Given the description of an element on the screen output the (x, y) to click on. 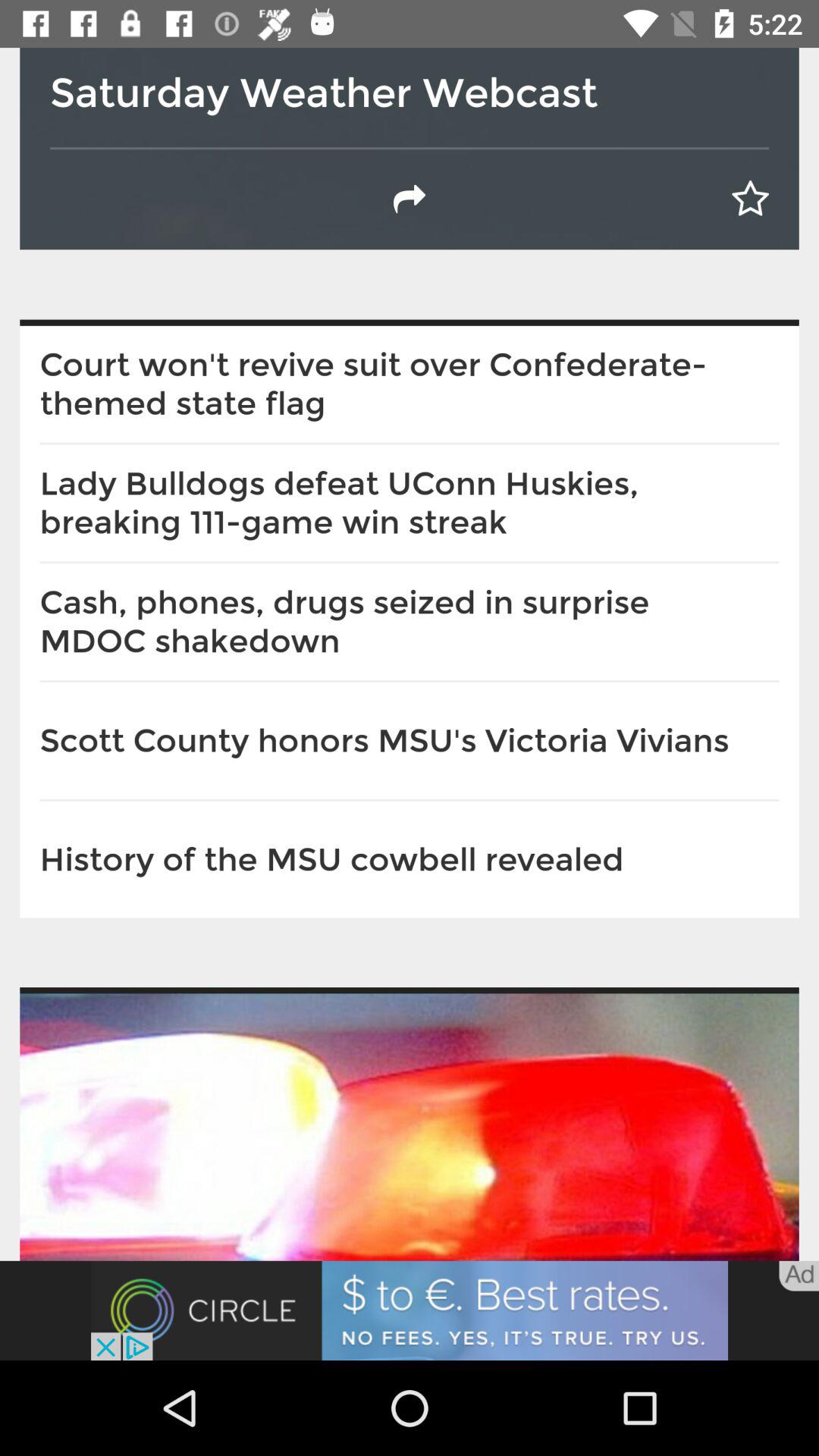
open advertisement (409, 1310)
